Given the description of an element on the screen output the (x, y) to click on. 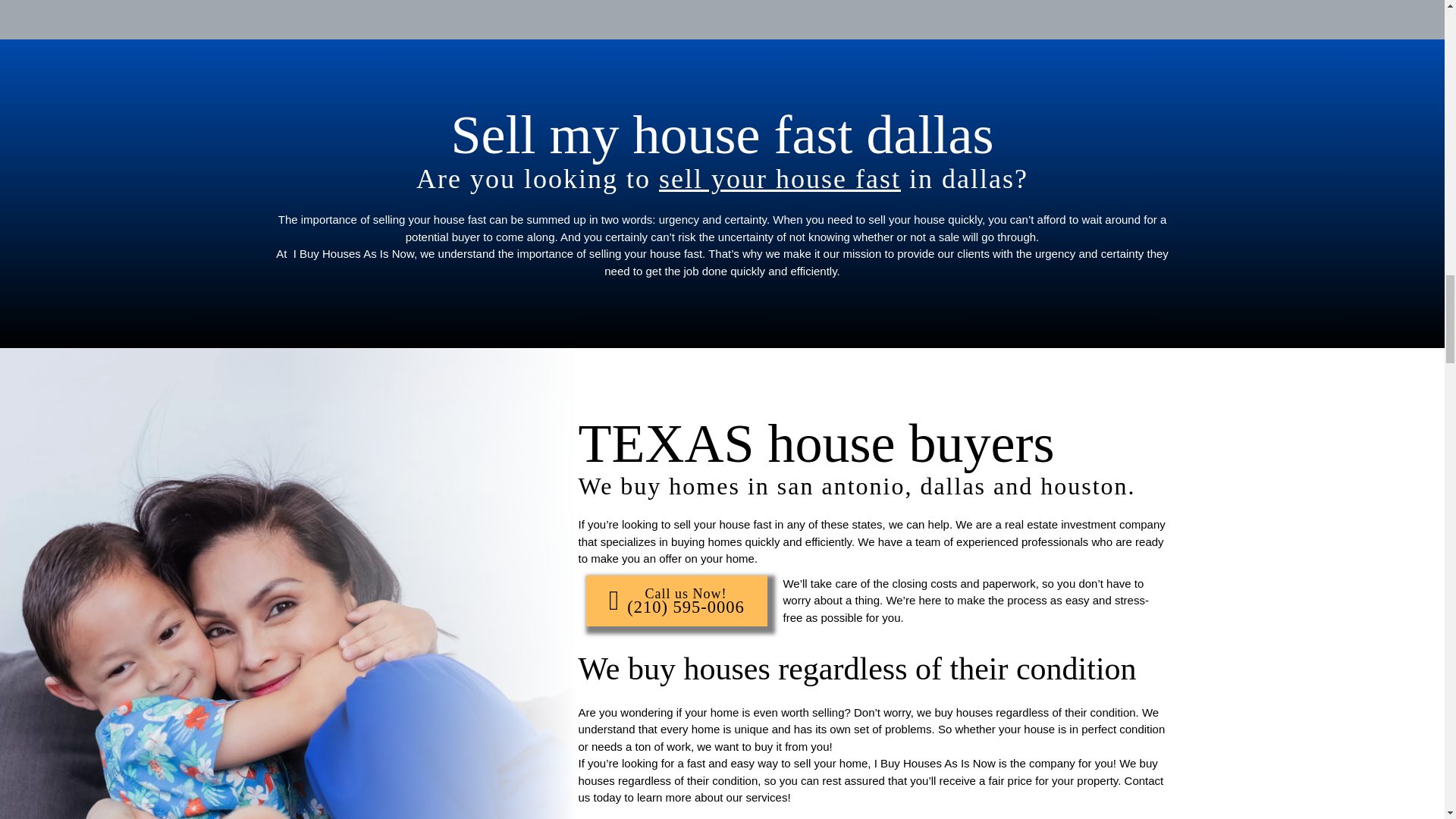
We buy homes in san antonio, dallas and houston. (856, 485)
Are you looking to sell your house fast in dallas? (721, 178)
Sell my house fast dallas (722, 134)
